Given the description of an element on the screen output the (x, y) to click on. 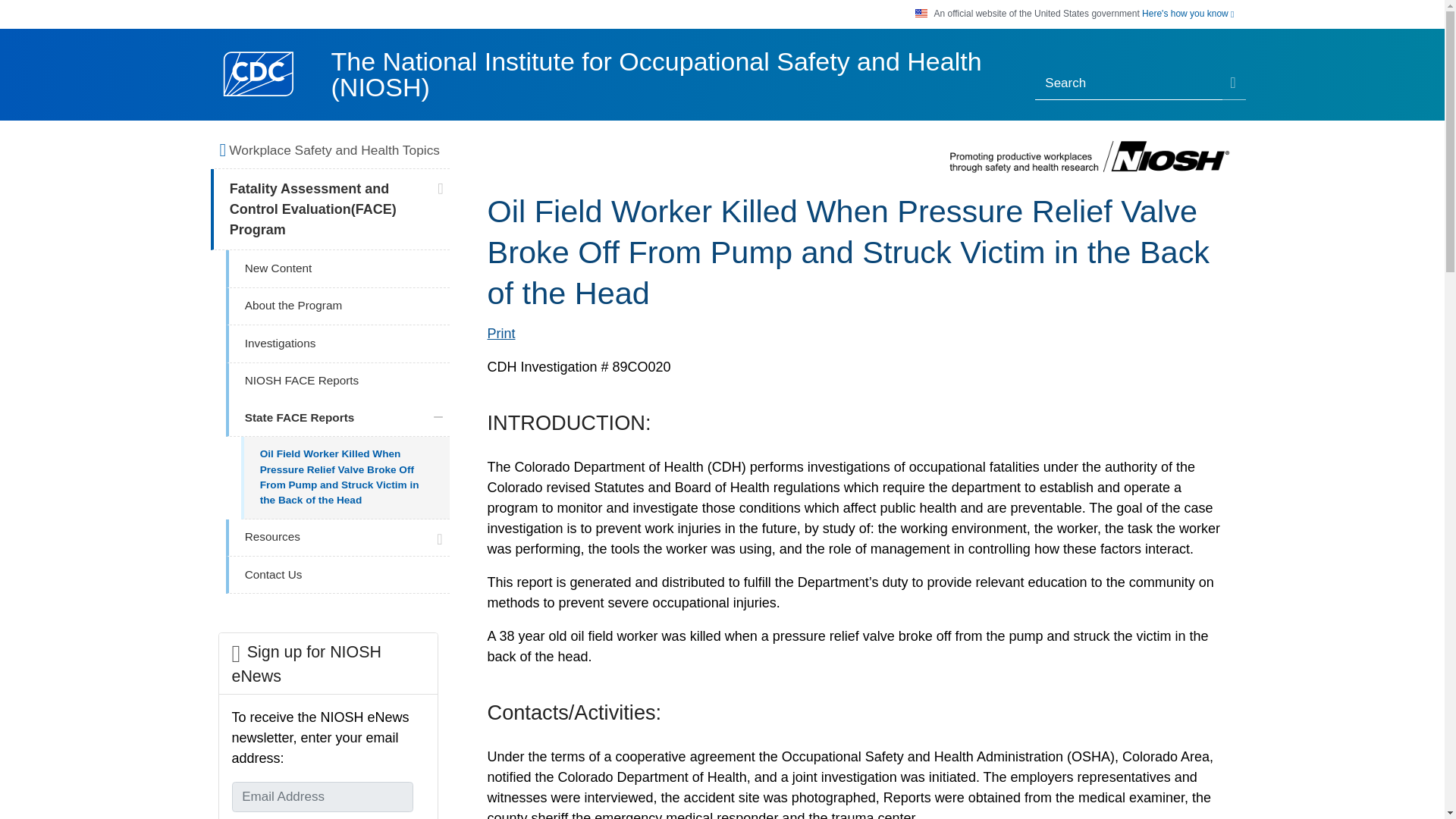
collapse (437, 417)
Email Address (322, 797)
Here's how you know (1187, 14)
